Given the description of an element on the screen output the (x, y) to click on. 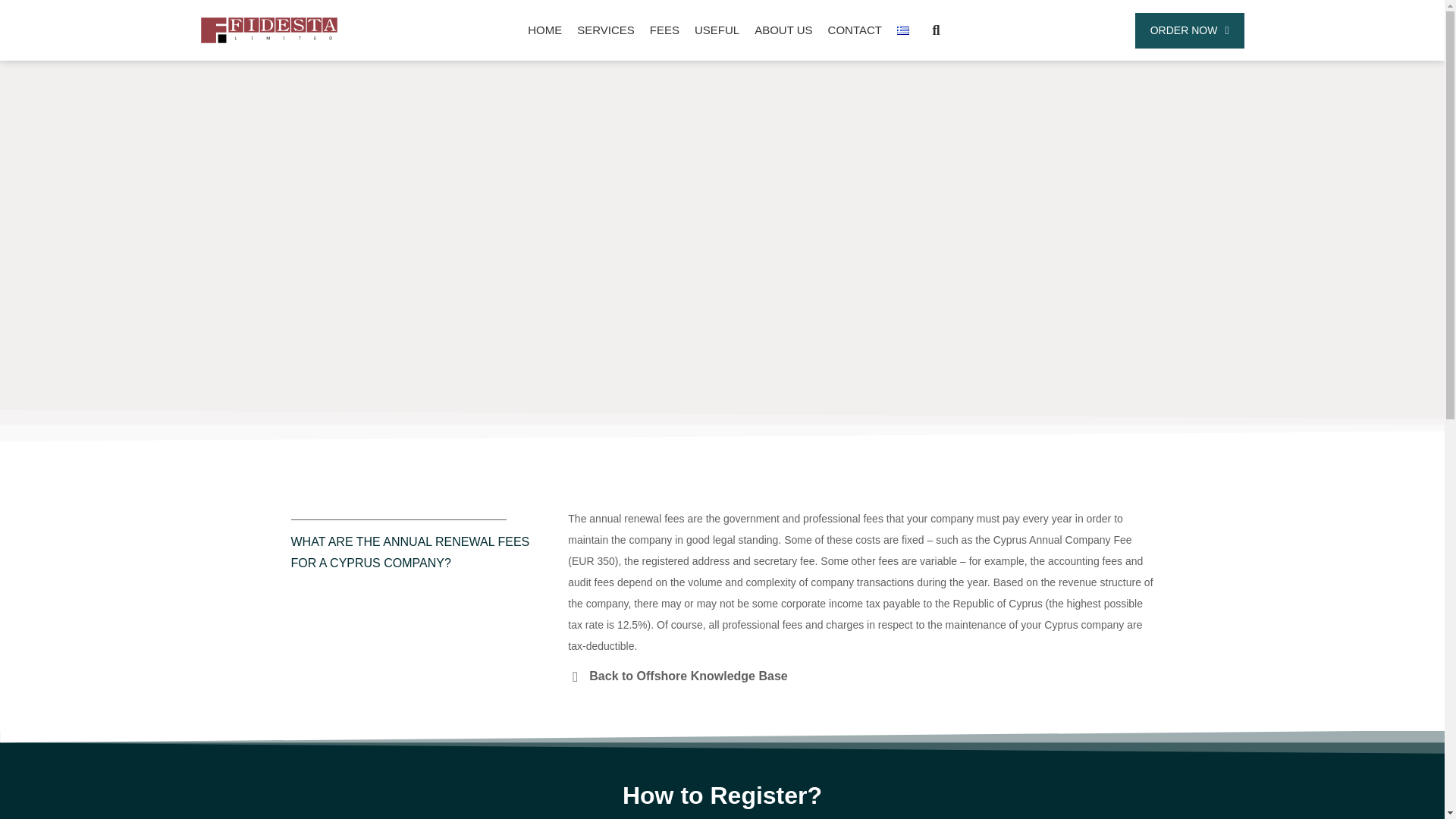
ABOUT US (782, 30)
SERVICES (605, 30)
USEFUL (716, 30)
CONTACT (855, 30)
